Given the description of an element on the screen output the (x, y) to click on. 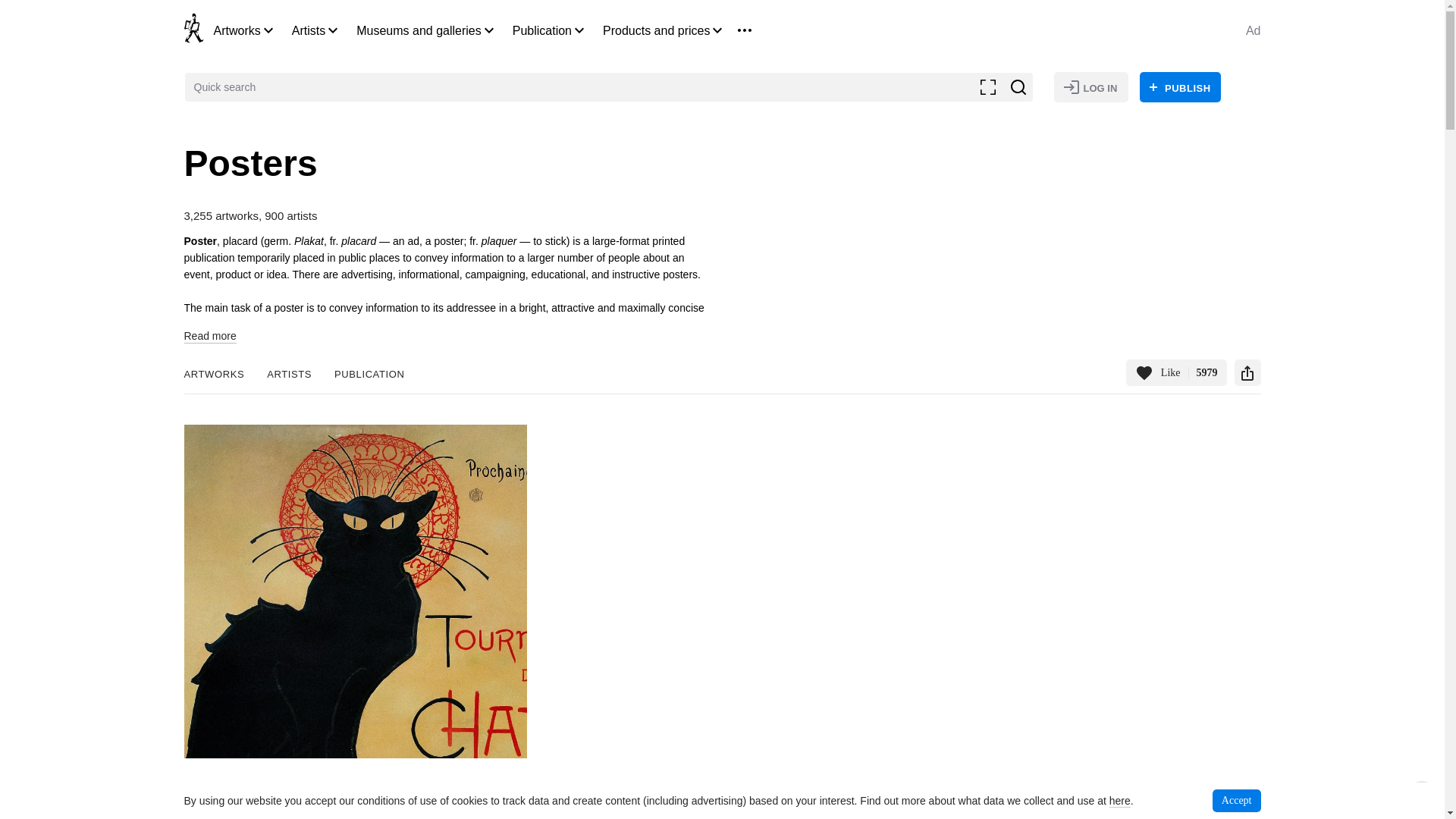
Artists (308, 30)
Accept (1236, 800)
Museums and galleries (418, 30)
Like (1176, 372)
Artworks (237, 30)
here (1120, 800)
Publication (542, 30)
